Given the description of an element on the screen output the (x, y) to click on. 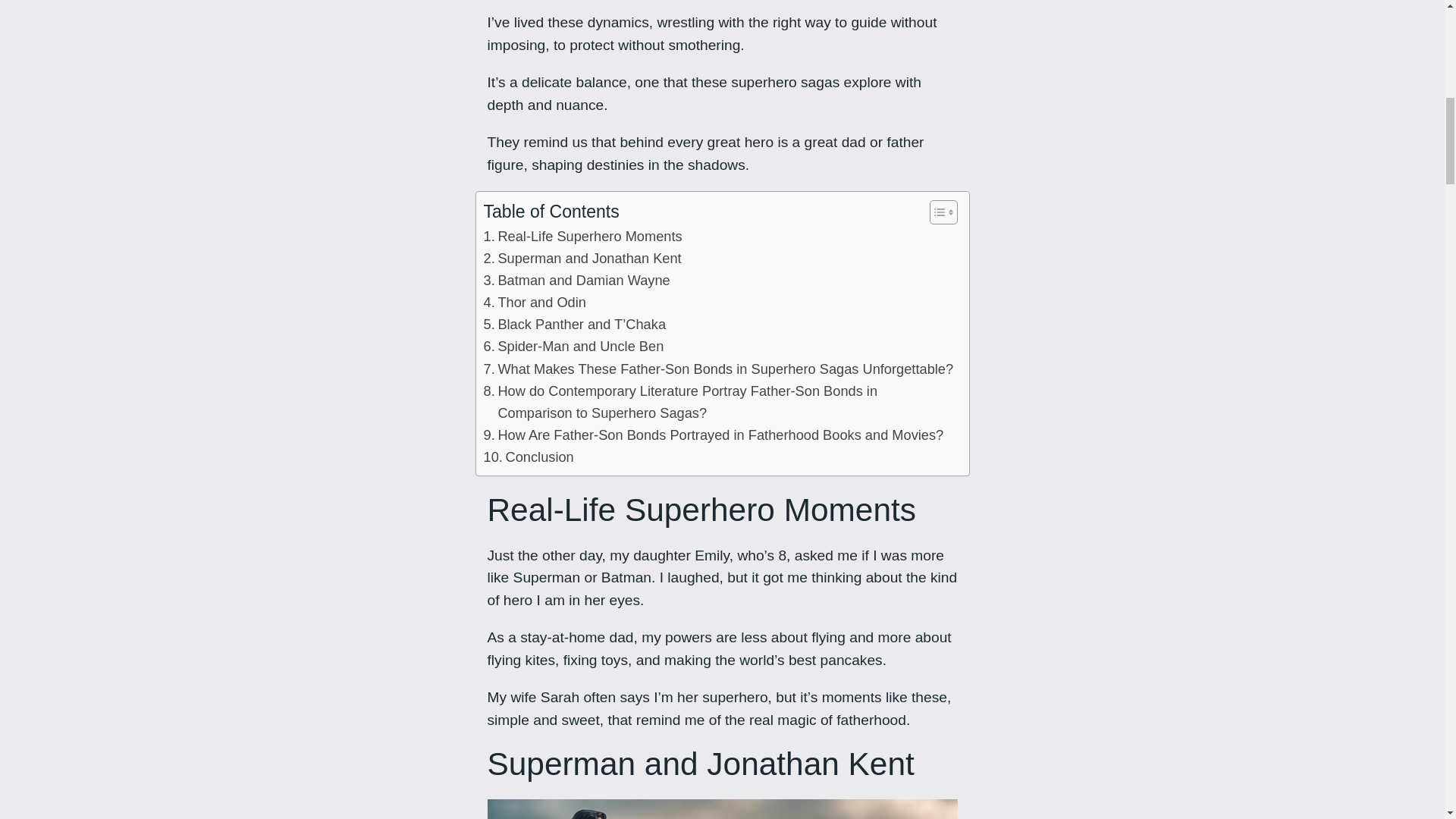
Real-Life Superhero Moments (582, 236)
Spider-Man and Uncle Ben (573, 345)
Superman and Jonathan Kent (582, 258)
Conclusion (528, 456)
Conclusion (528, 456)
